Given the description of an element on the screen output the (x, y) to click on. 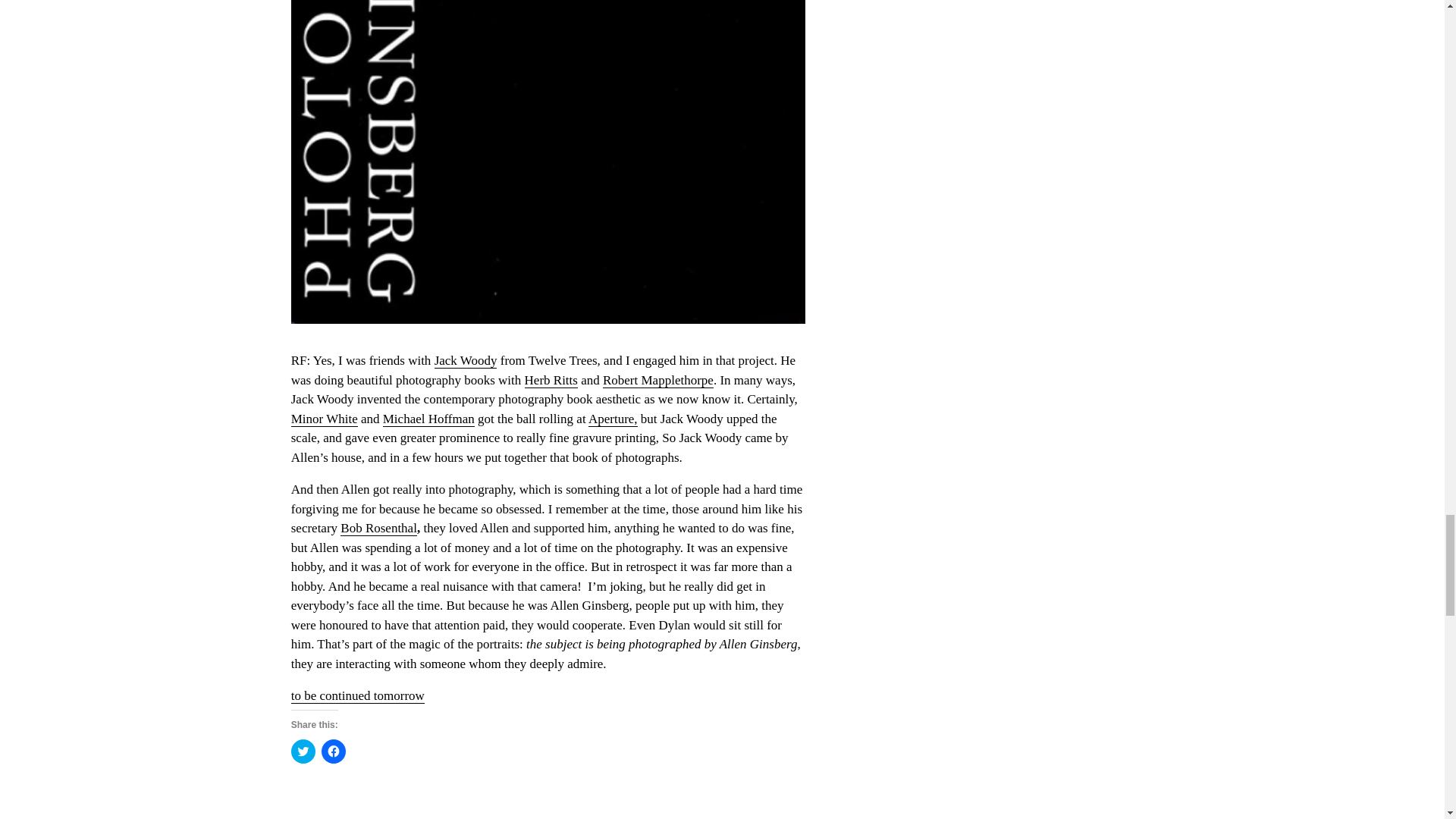
Click to share on Twitter (303, 751)
Click to share on Facebook (333, 751)
